Given the description of an element on the screen output the (x, y) to click on. 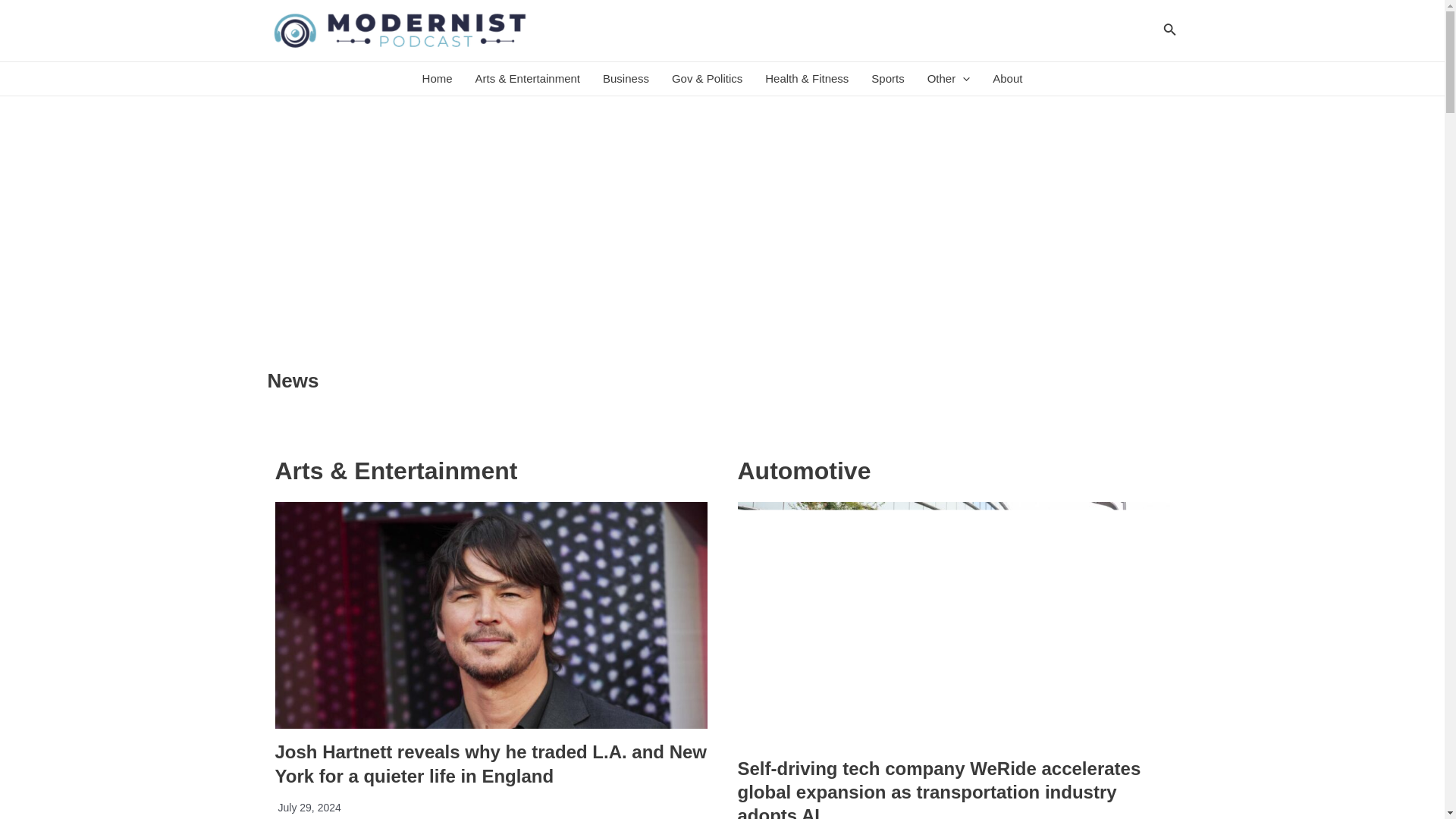
Home (437, 78)
Sports (887, 78)
Business (626, 78)
About (1007, 78)
Other (948, 78)
